Given the description of an element on the screen output the (x, y) to click on. 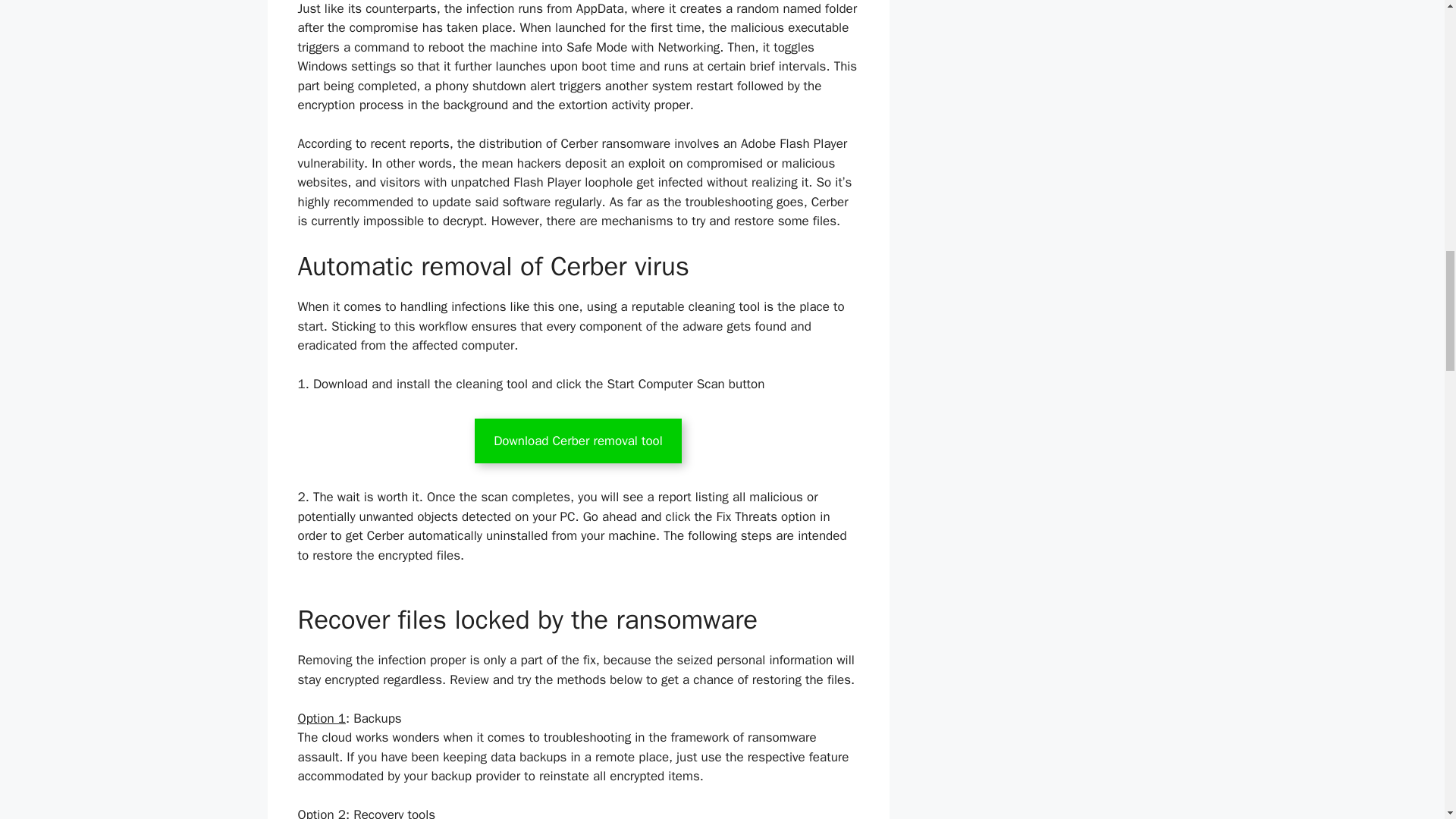
Download Cerber removal tool (577, 441)
